Given the description of an element on the screen output the (x, y) to click on. 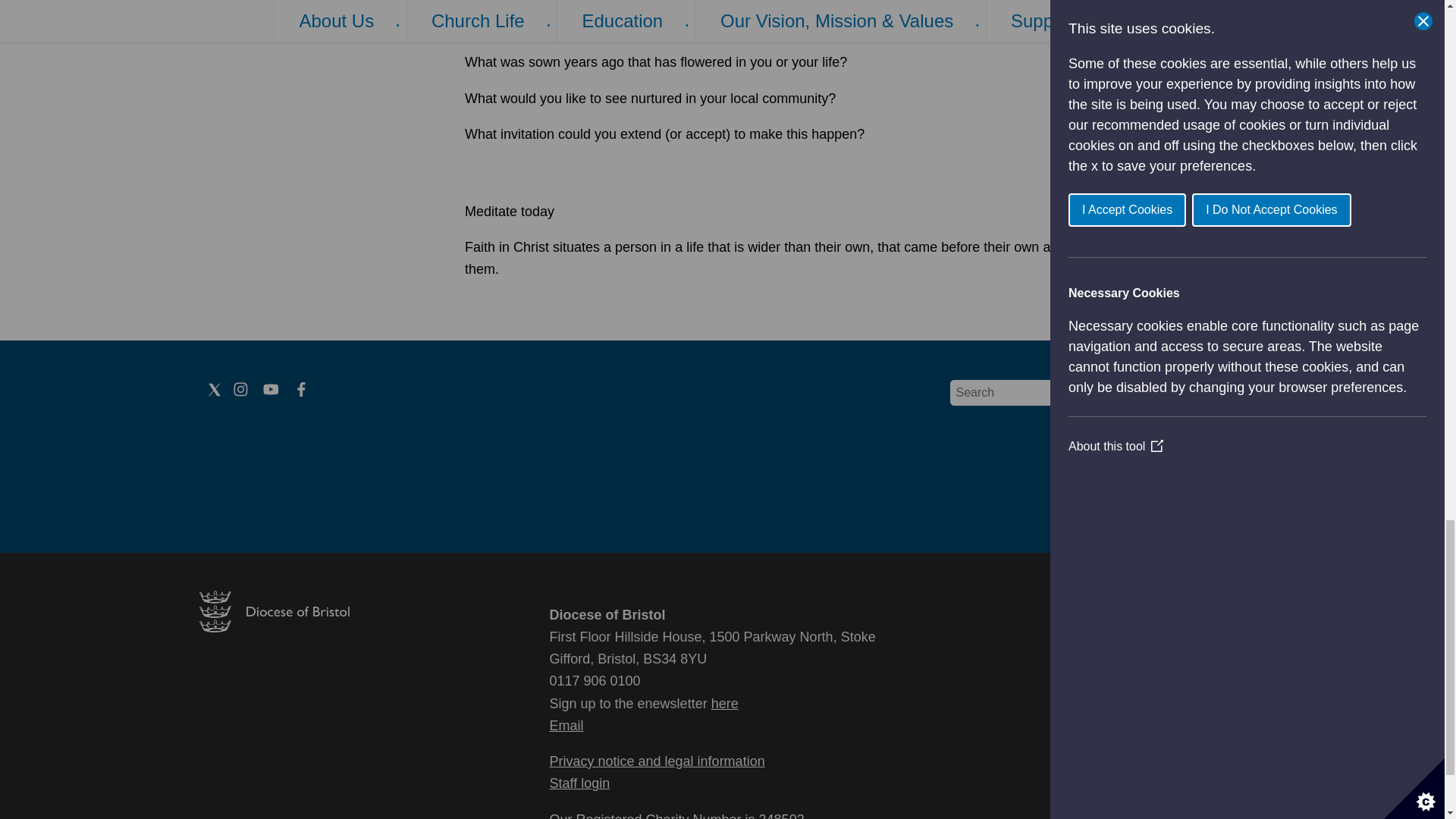
Diocese of Bristol Logo (273, 627)
